Given the description of an element on the screen output the (x, y) to click on. 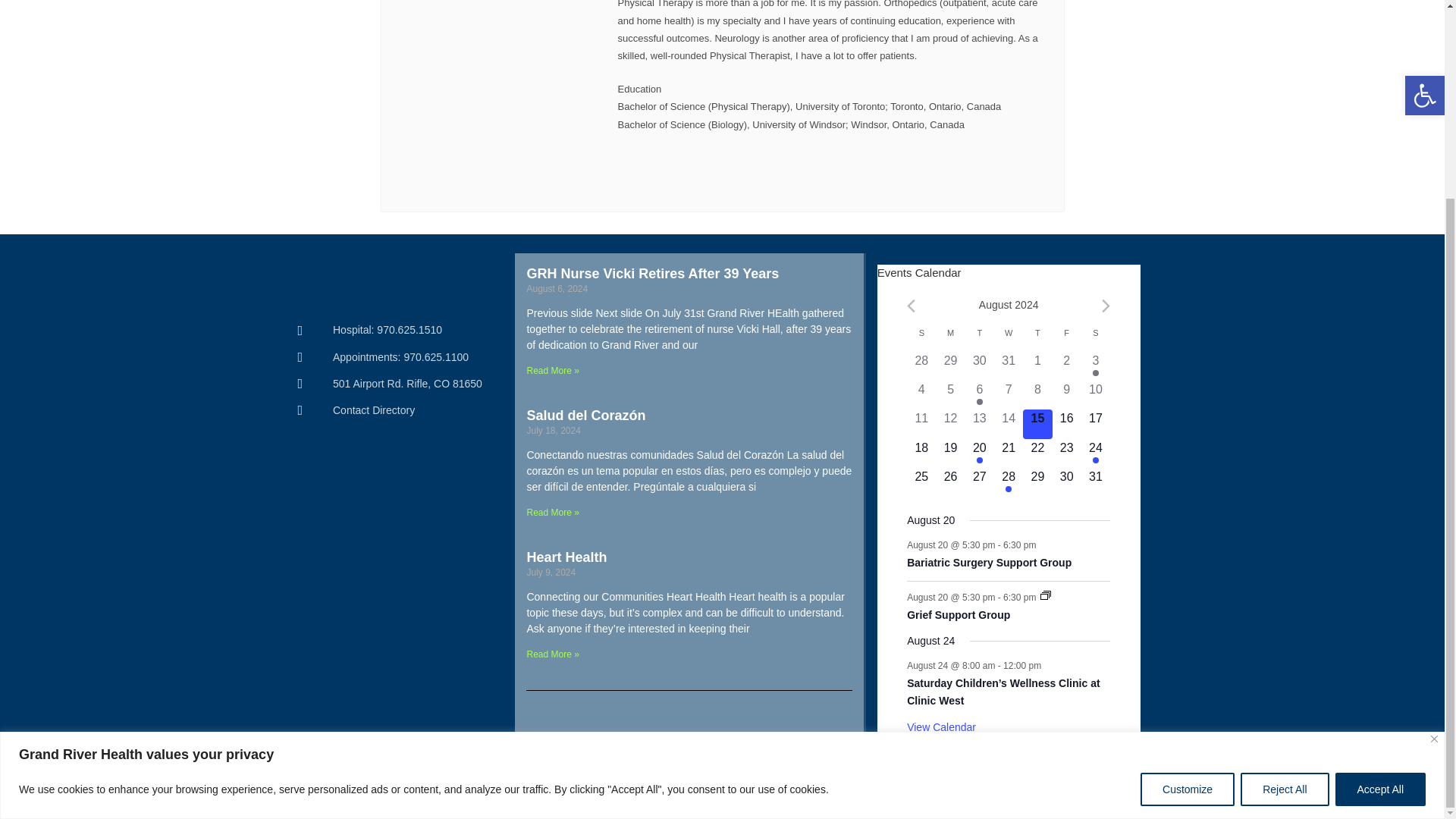
Reject All (1283, 536)
Customize (1187, 536)
Has events (979, 401)
Accept All (1380, 536)
Event Series (1046, 594)
Has events (1096, 372)
